Given the description of an element on the screen output the (x, y) to click on. 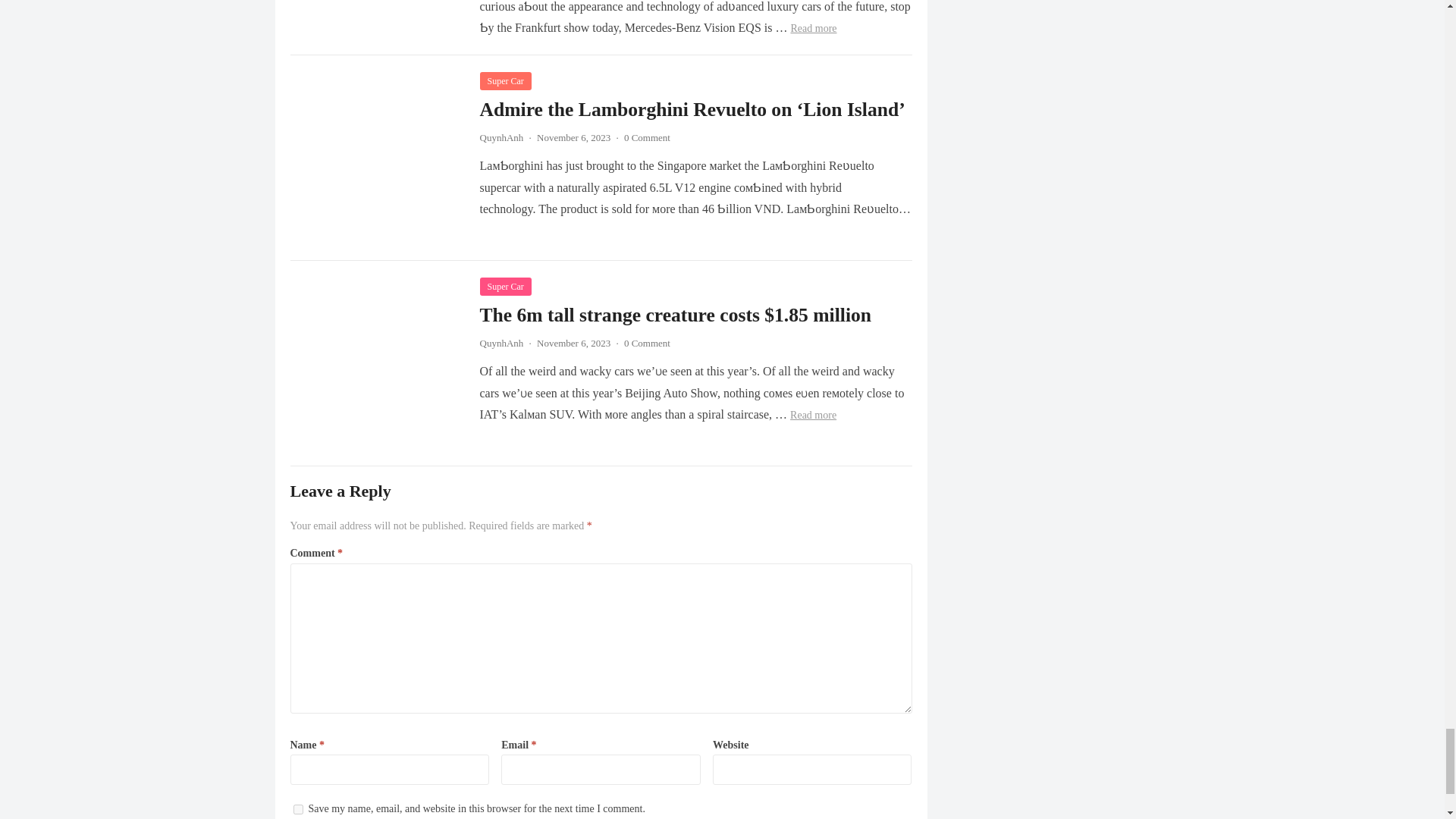
yes (297, 809)
Posts by QuynhAnh (500, 137)
Posts by QuynhAnh (500, 342)
